Given the description of an element on the screen output the (x, y) to click on. 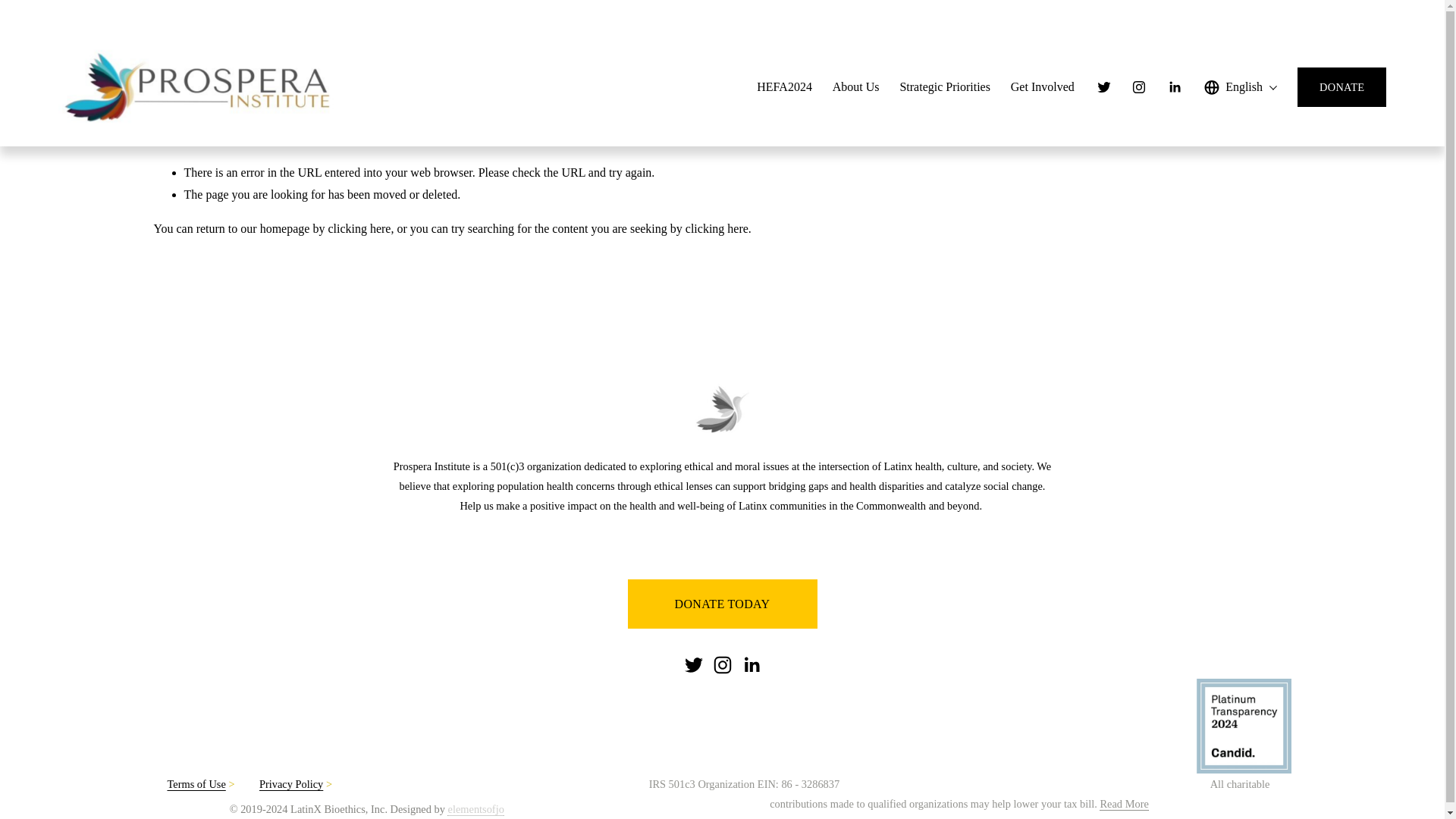
About Us (855, 87)
DONATE (1341, 87)
HEFA2024 (784, 87)
Get Involved (1042, 87)
Strategic Priorities (944, 87)
